Given the description of an element on the screen output the (x, y) to click on. 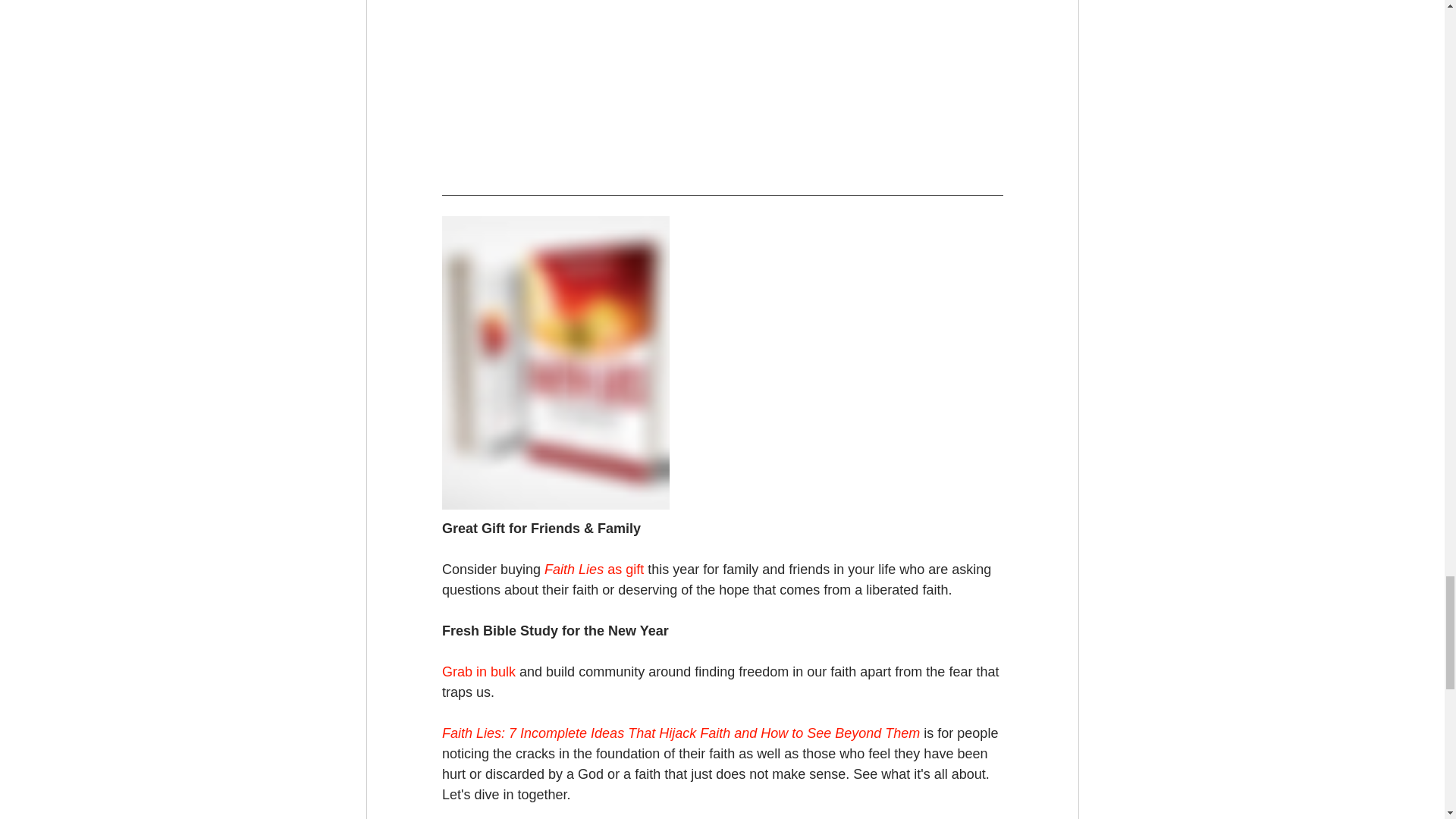
 as gift (623, 569)
Faith Lies (574, 569)
Grab in bulk (478, 671)
